Given the description of an element on the screen output the (x, y) to click on. 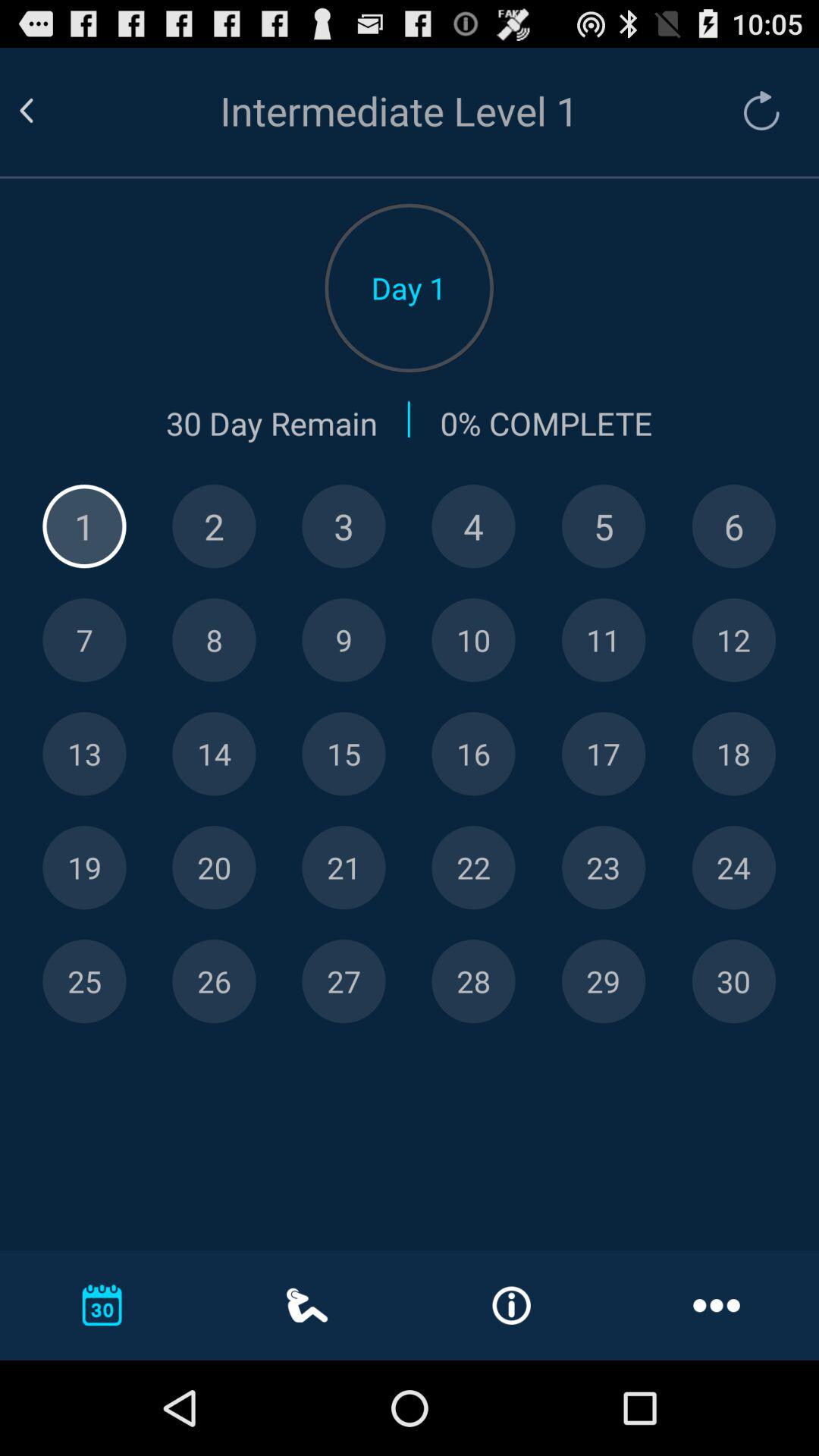
go back to the previous page (44, 110)
